Given the description of an element on the screen output the (x, y) to click on. 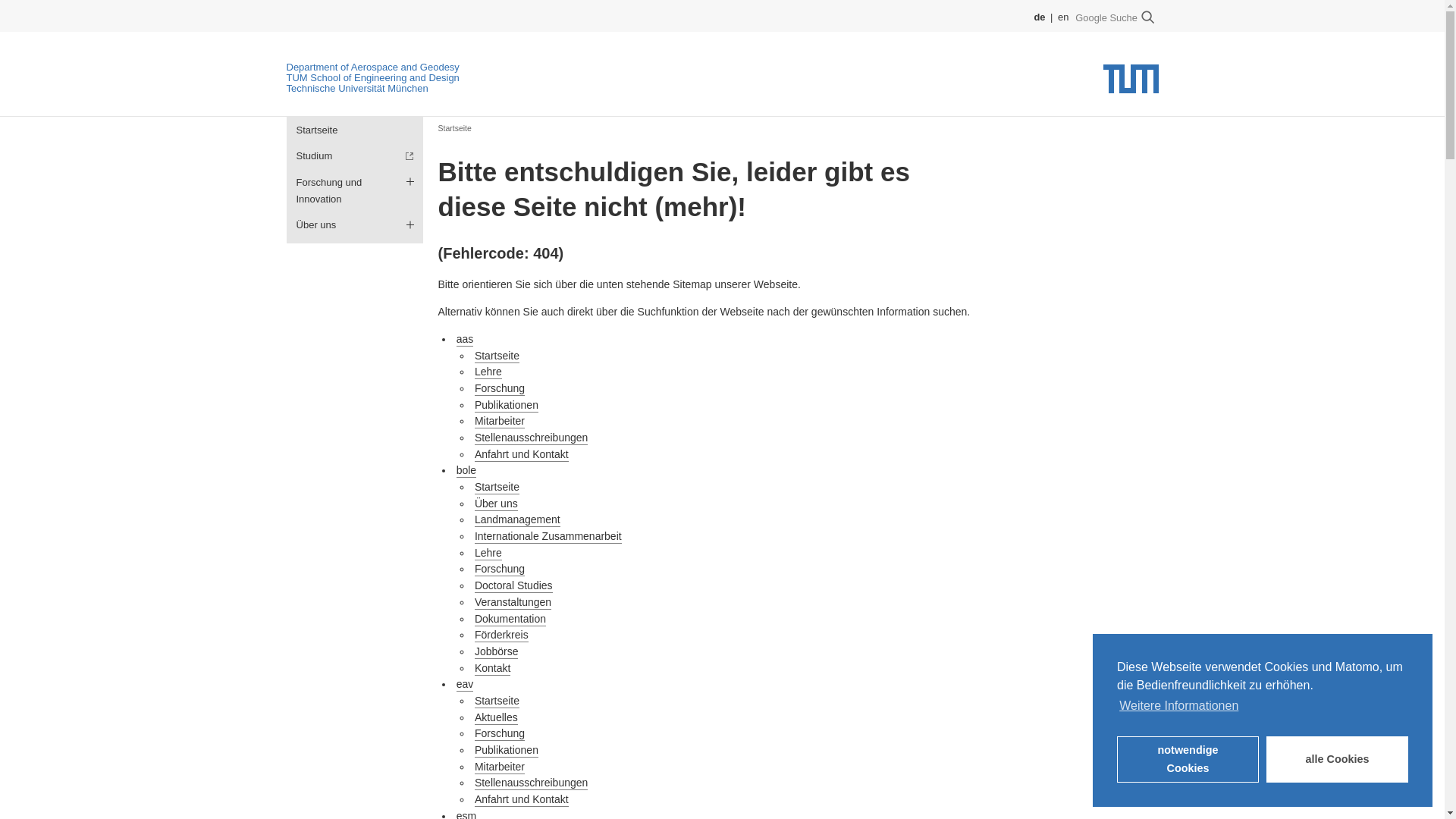
Landmanagement (517, 520)
Doctoral Studies (513, 585)
Studium (354, 156)
Forschung (499, 388)
Anfahrt und Kontakt (521, 454)
Lehre (488, 372)
Dokumentation (510, 619)
bole (466, 470)
Publikationen (506, 405)
Startseite (496, 487)
Lehre (488, 553)
Startseite (354, 130)
Department of Aerospace and Geodesy (373, 66)
Forschung und Innovation (354, 189)
Kontakt (492, 668)
